Given the description of an element on the screen output the (x, y) to click on. 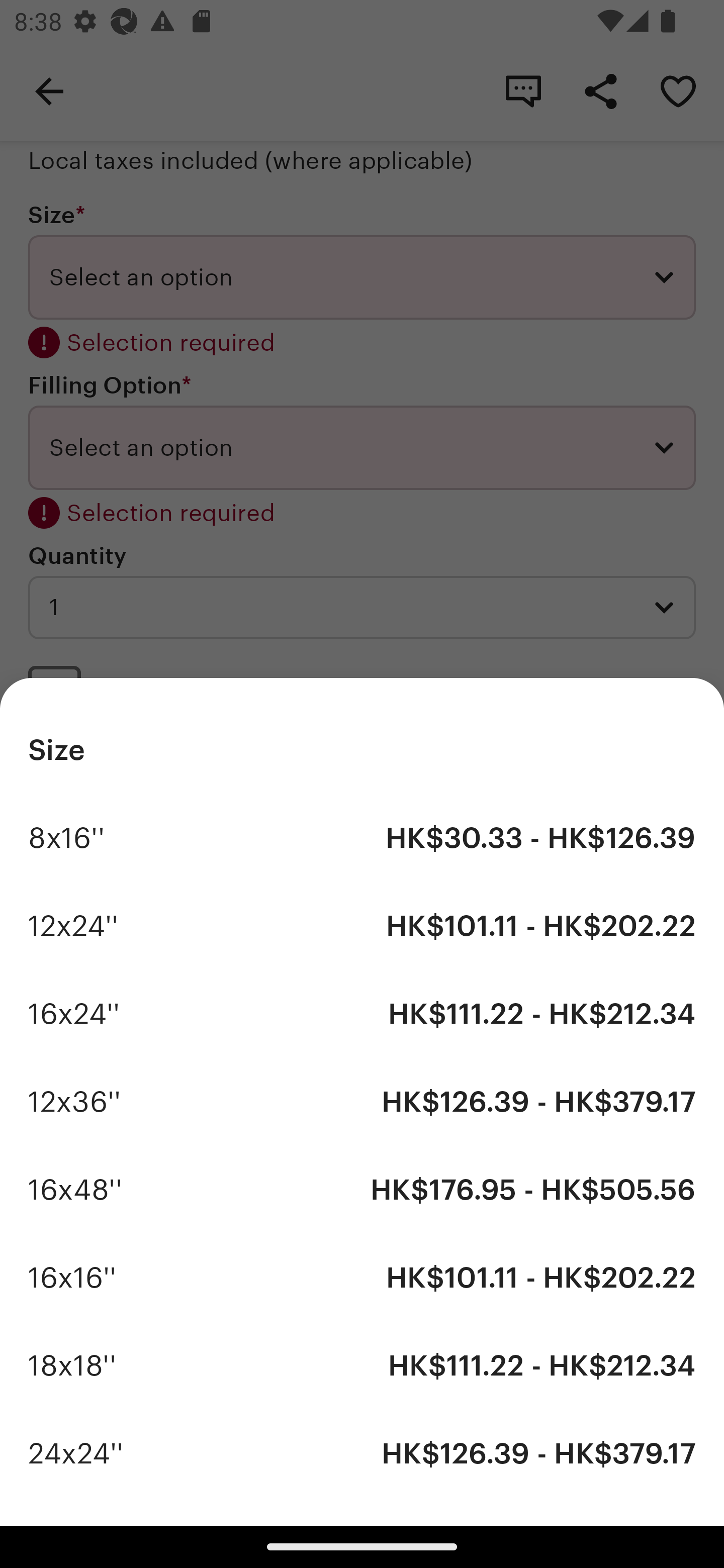
8x16'' HK$30.33 - HK$126.39 (362, 837)
12x24'' HK$101.11 - HK$202.22 (362, 925)
16x24'' HK$111.22 - HK$212.34 (362, 1014)
12x36'' HK$126.39 - HK$379.17 (362, 1102)
16x48'' HK$176.95 - HK$505.56 (362, 1190)
16x16'' HK$101.11 - HK$202.22 (362, 1277)
18x18'' HK$111.22 - HK$212.34 (362, 1365)
24x24'' HK$126.39 - HK$379.17 (362, 1453)
